Given the description of an element on the screen output the (x, y) to click on. 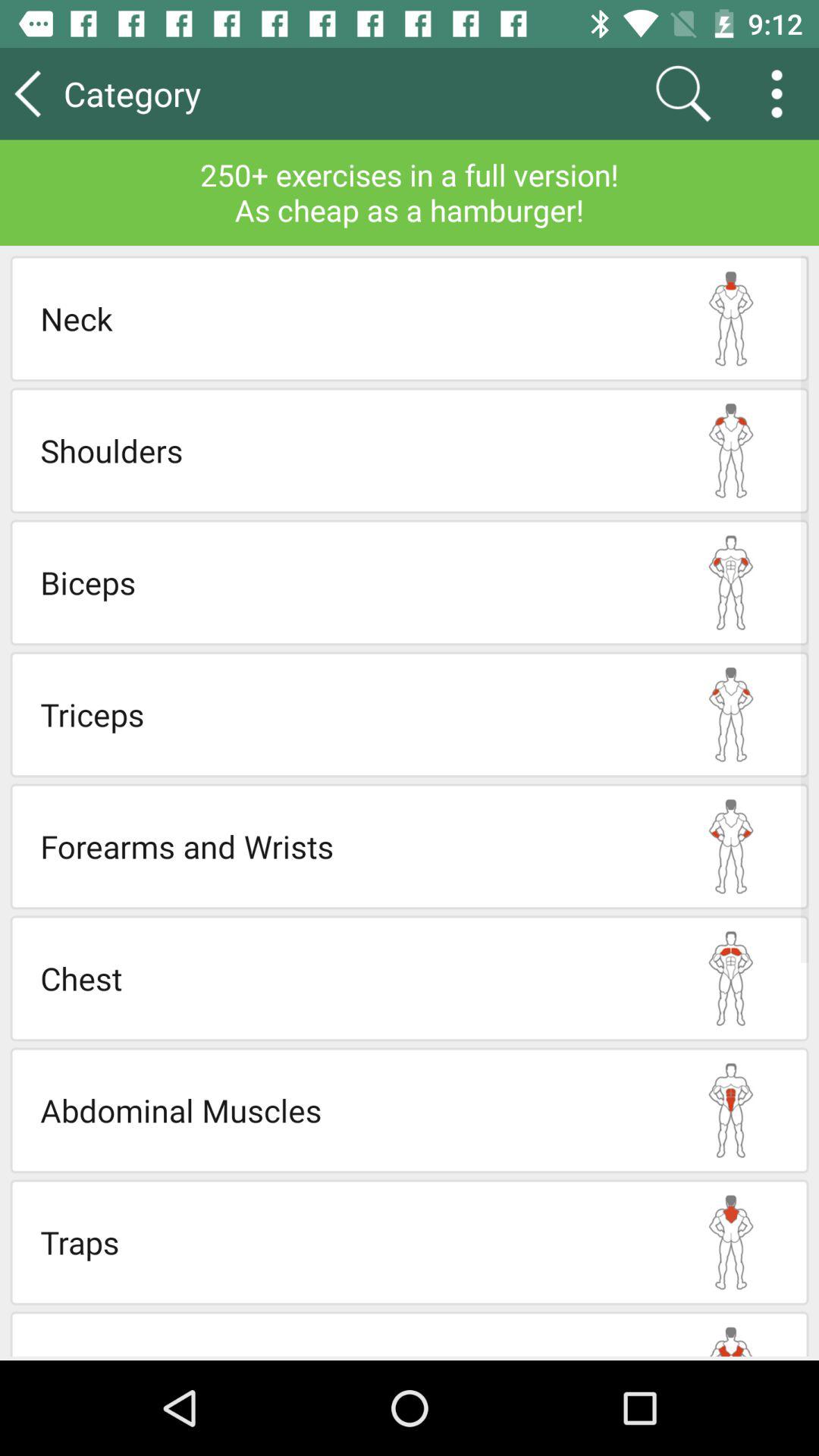
choose app next to the category (682, 93)
